Given the description of an element on the screen output the (x, y) to click on. 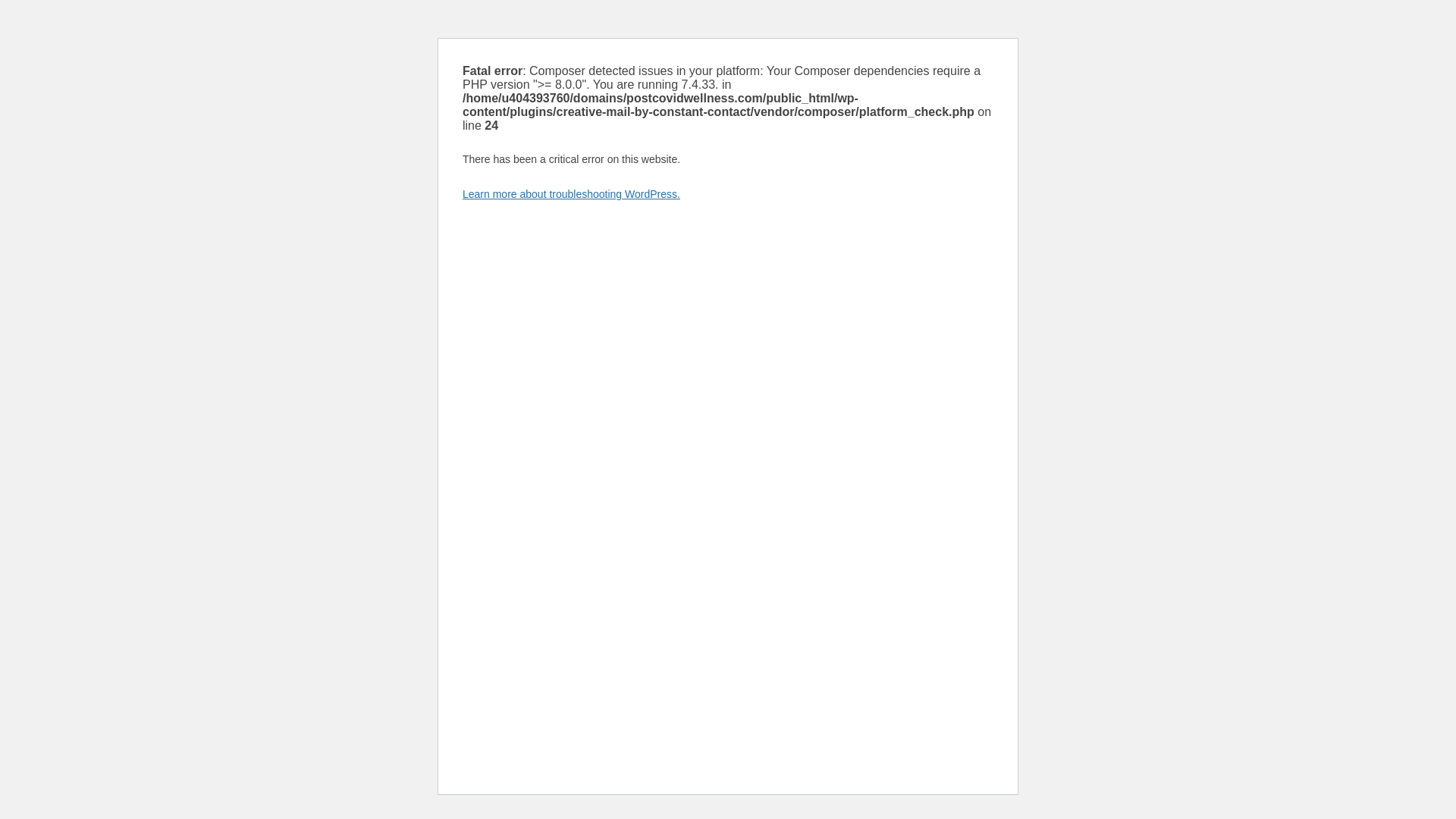
Learn more about troubleshooting WordPress. (571, 193)
